Given the description of an element on the screen output the (x, y) to click on. 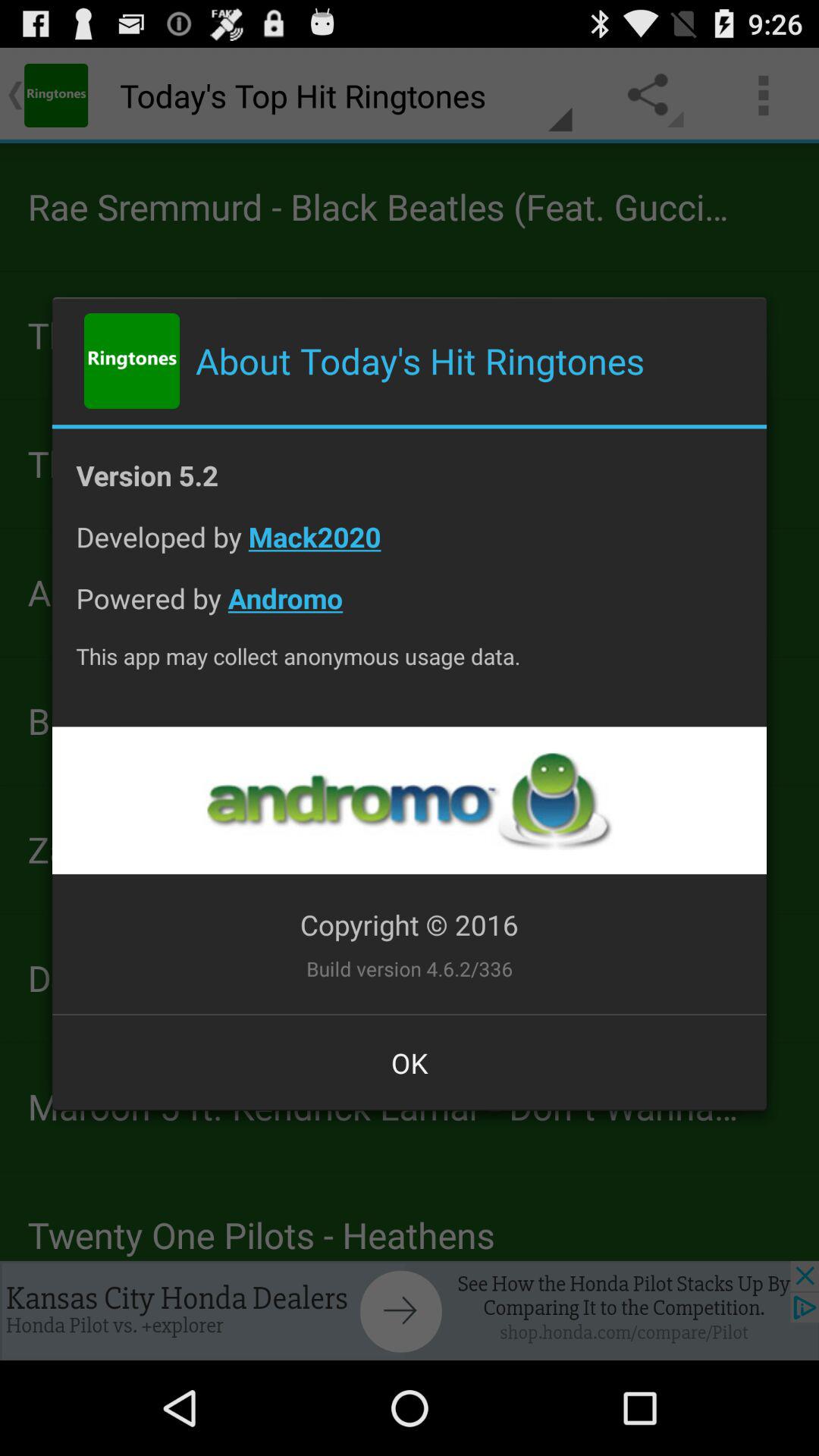
launch the app above the this app may icon (409, 609)
